Given the description of an element on the screen output the (x, y) to click on. 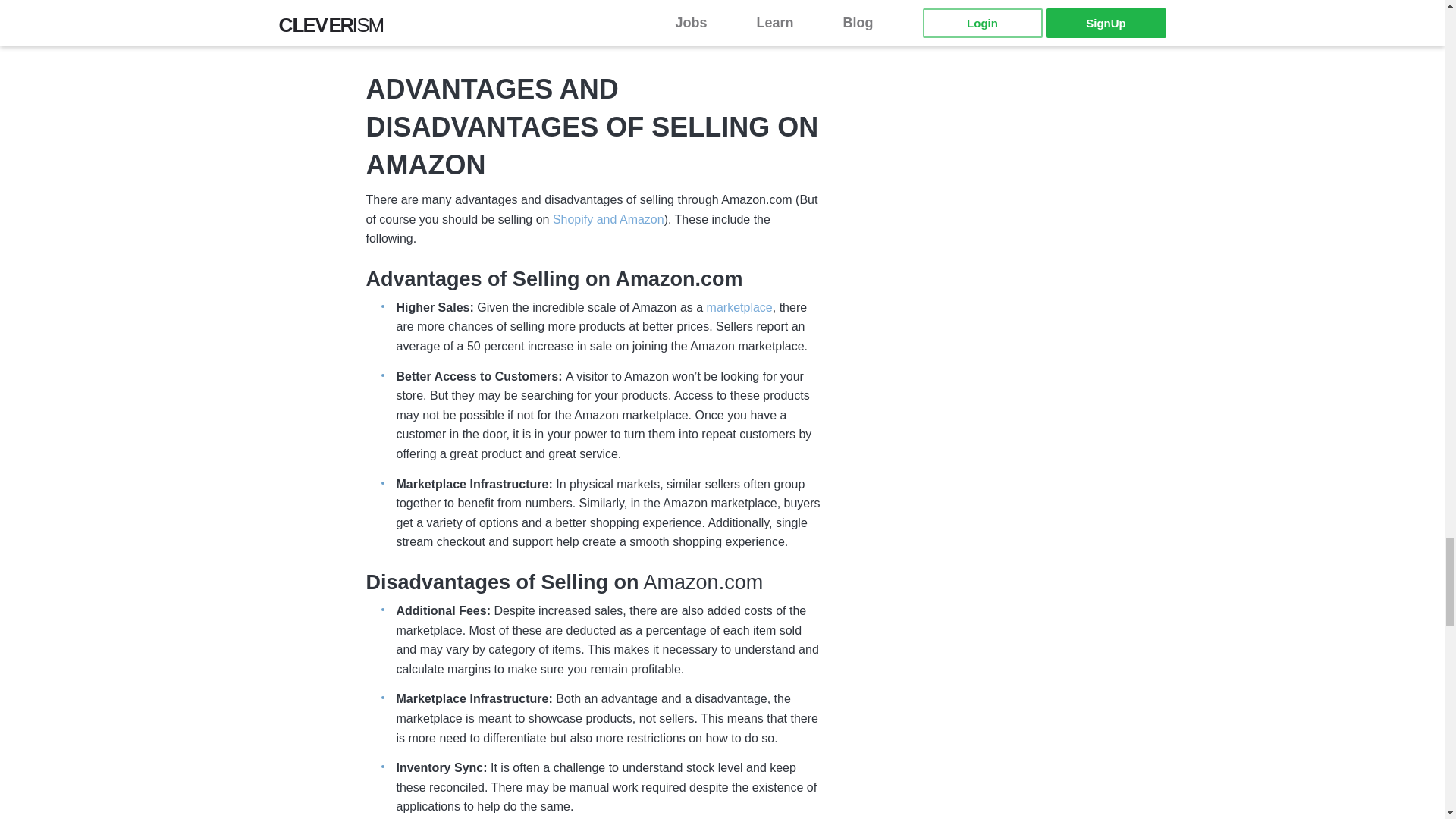
Shopify and Amazon (608, 220)
marketplace (739, 308)
